Given the description of an element on the screen output the (x, y) to click on. 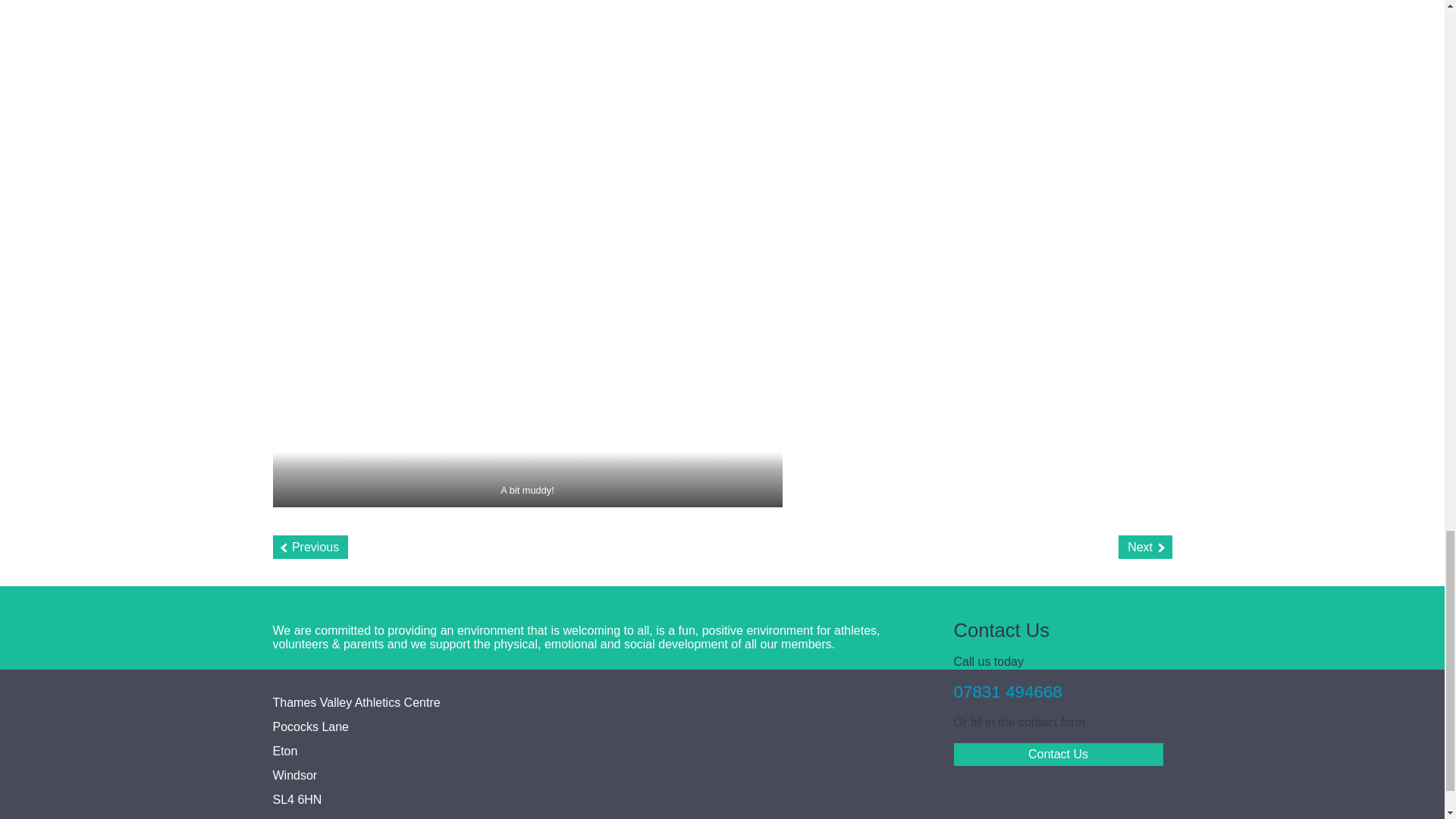
Next (1145, 546)
07831 494668 (1007, 691)
Contact Us (1058, 753)
Cookie policy (399, 818)
Previous (311, 546)
Accessibility (306, 818)
